Given the description of an element on the screen output the (x, y) to click on. 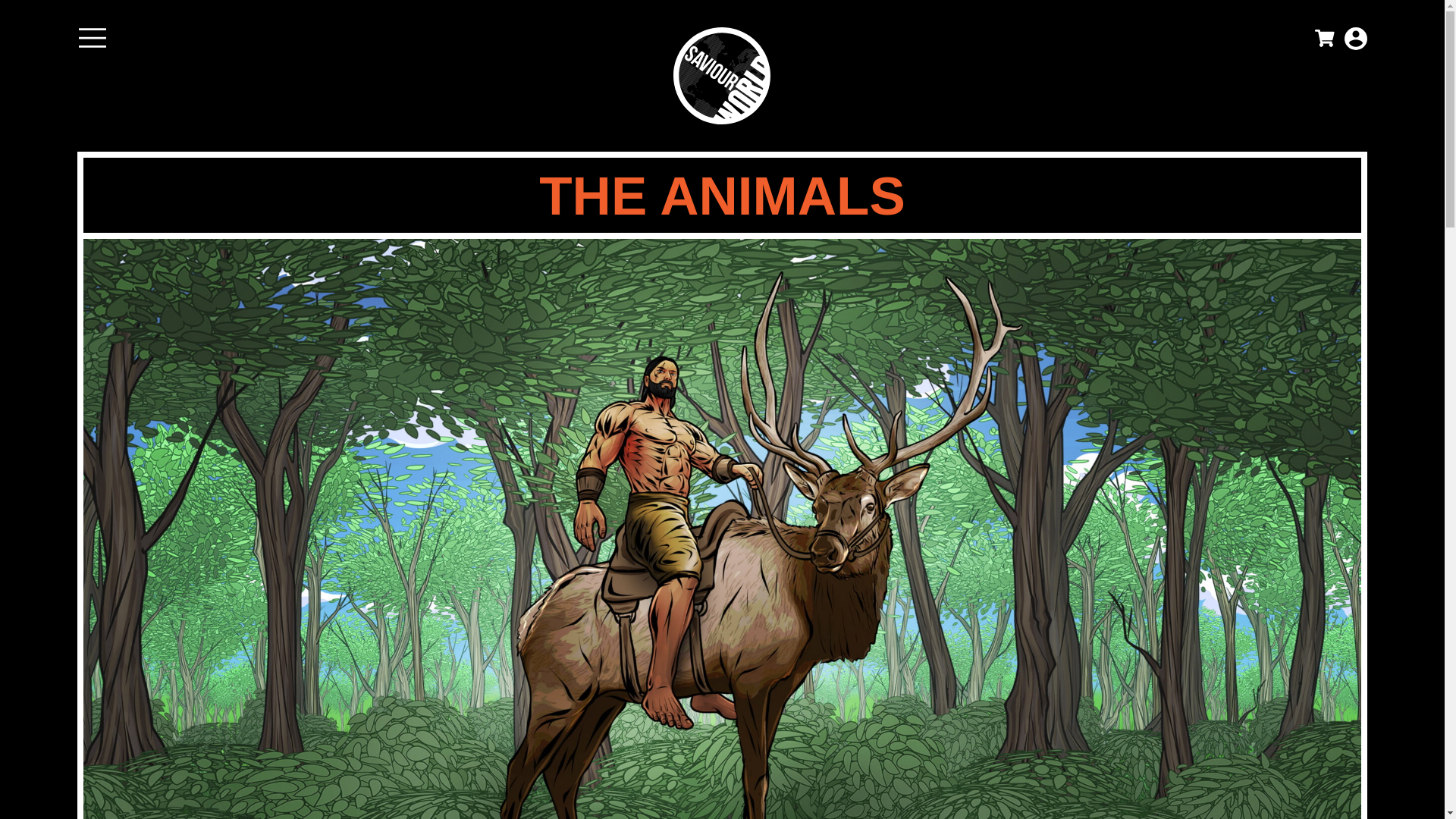
Saviour World homepage (721, 75)
Your Account (1355, 38)
